Given the description of an element on the screen output the (x, y) to click on. 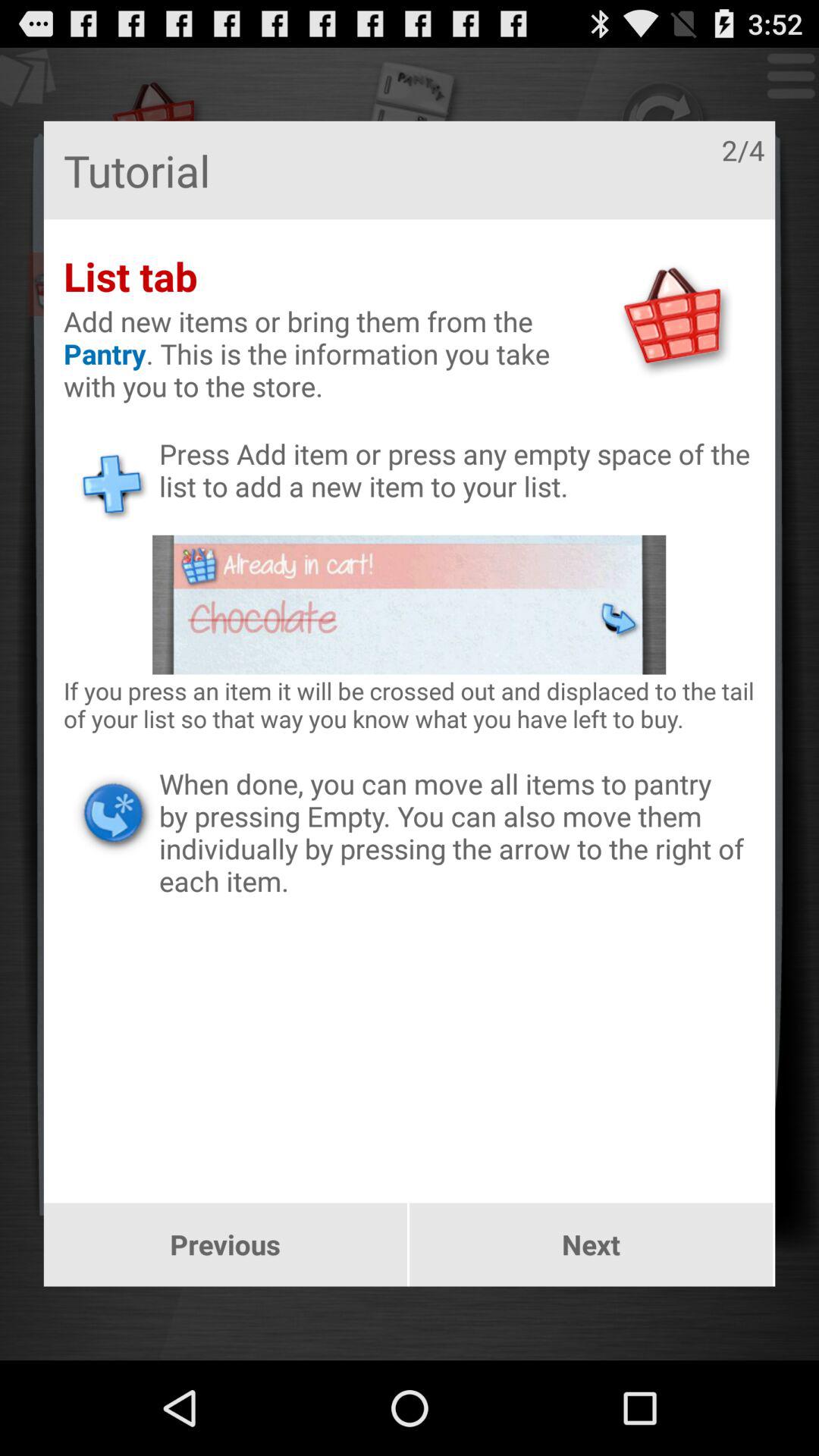
turn off the previous at the bottom left corner (225, 1244)
